Given the description of an element on the screen output the (x, y) to click on. 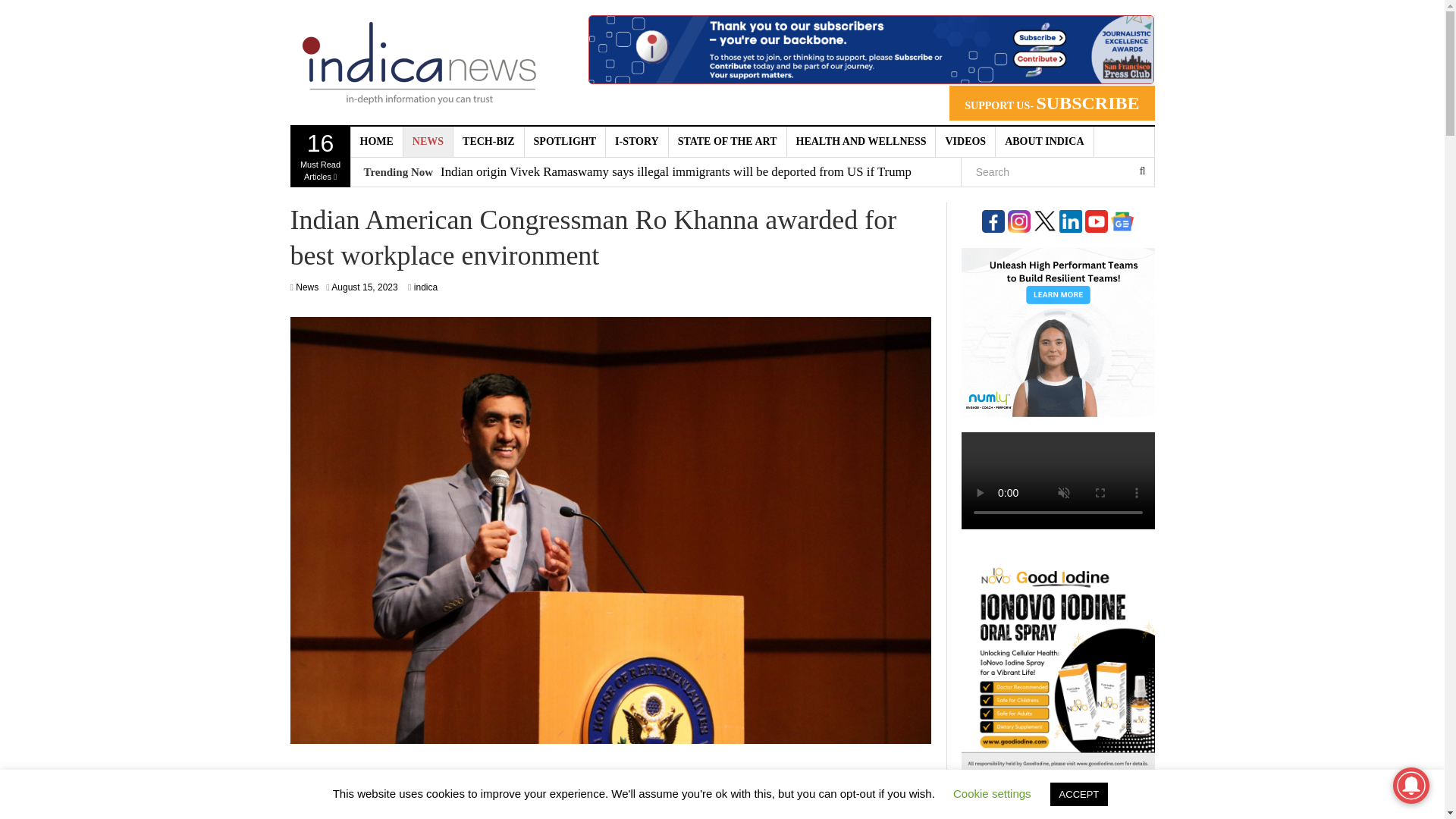
indica News (418, 62)
News (306, 286)
VIDEOS (965, 141)
STATE OF THE ART (727, 141)
Share (567, 789)
ABOUT INDICA (1044, 141)
SUPPORT US- SUBSCRIBE (1051, 102)
SPOTLIGHT (564, 141)
TECH-BIZ (488, 141)
NEWS (427, 141)
I-STORY (636, 141)
Tweet (787, 789)
HEALTH AND WELLNESS (861, 141)
